Given the description of an element on the screen output the (x, y) to click on. 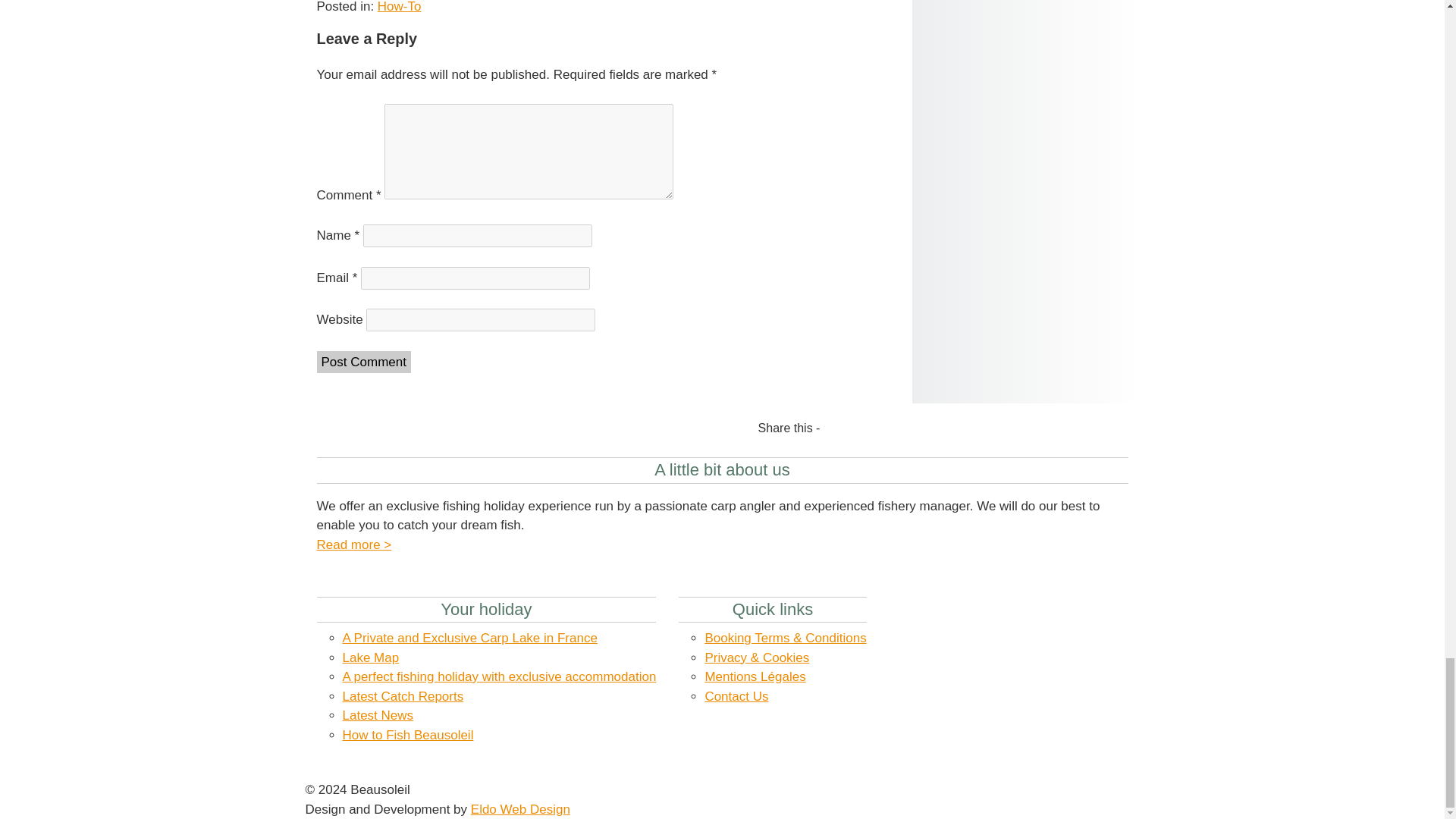
Post Comment (363, 362)
